Given the description of an element on the screen output the (x, y) to click on. 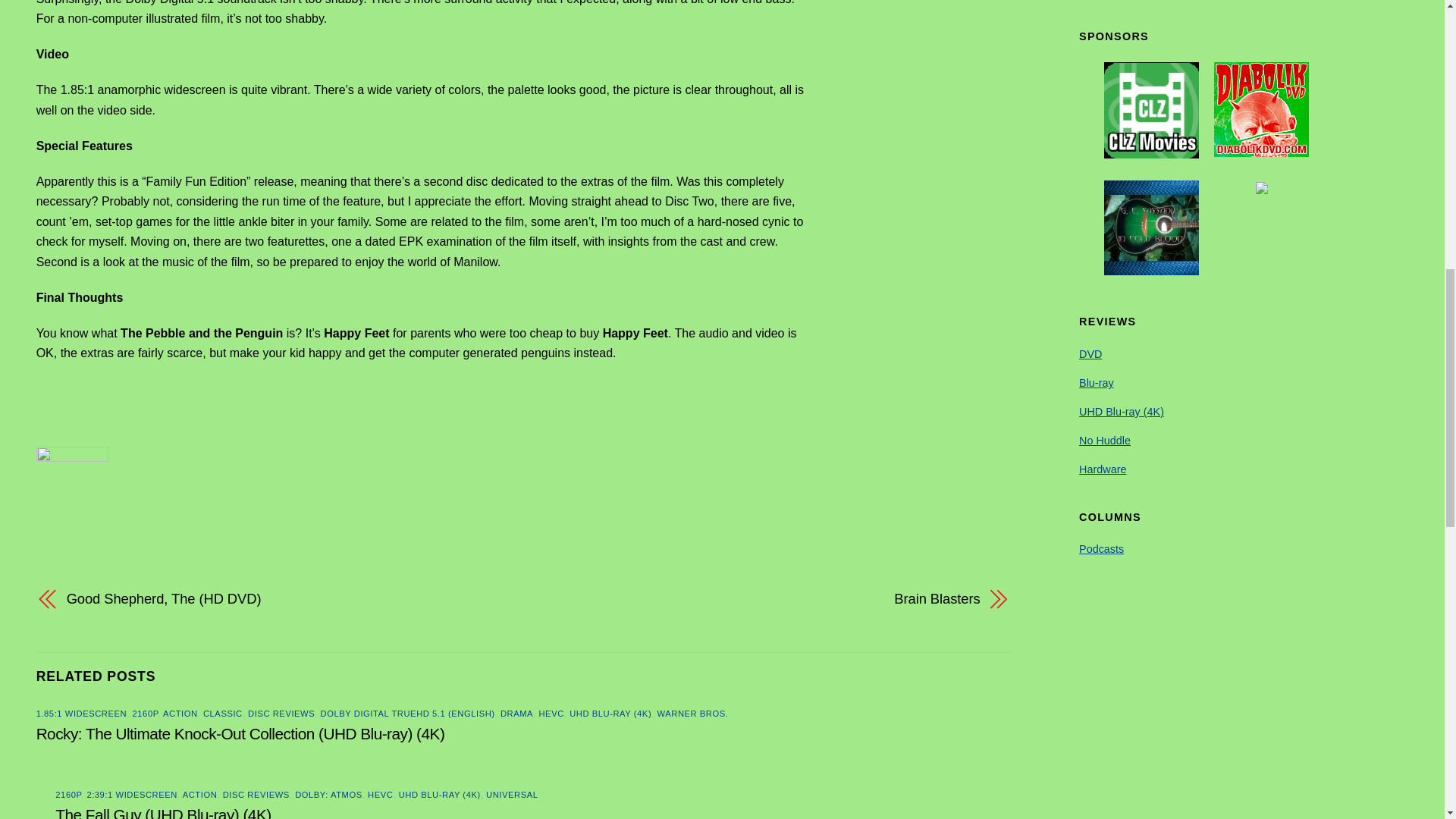
WARNER BROS. (693, 713)
2160P (145, 713)
DRAMA (516, 713)
1.85:1 WIDESCREEN (82, 713)
Brain Blasters (766, 598)
CLASSIC (223, 713)
HEVC (550, 713)
HEVC (380, 794)
2:39:1 WIDESCREEN (131, 794)
ACTION (180, 713)
UNIVERSAL (511, 794)
DOLBY: ATMOS (328, 794)
2160P (68, 794)
ACTION (199, 794)
DISC REVIEWS (280, 713)
